Given the description of an element on the screen output the (x, y) to click on. 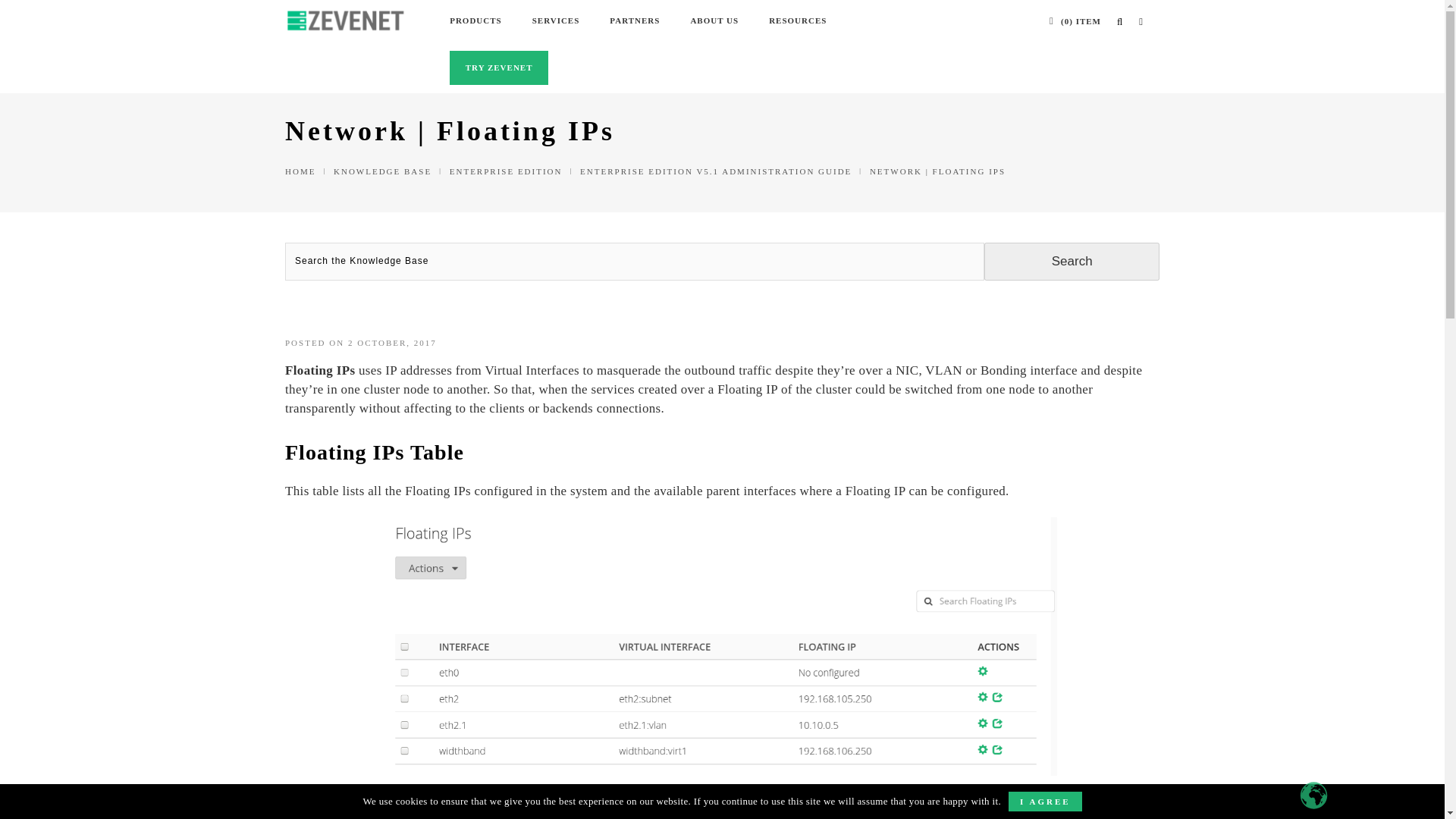
ABOUT US (714, 21)
RESOURCES (797, 21)
PRODUCTS (475, 21)
PARTNERS (634, 21)
Browse to: Knowledge Base (381, 171)
Browse to: Enterprise Edition (505, 171)
Browse to: Enterprise Edition v5.1 Administration Guide (715, 171)
Browse to: Home (300, 171)
SERVICES (555, 21)
